Given the description of an element on the screen output the (x, y) to click on. 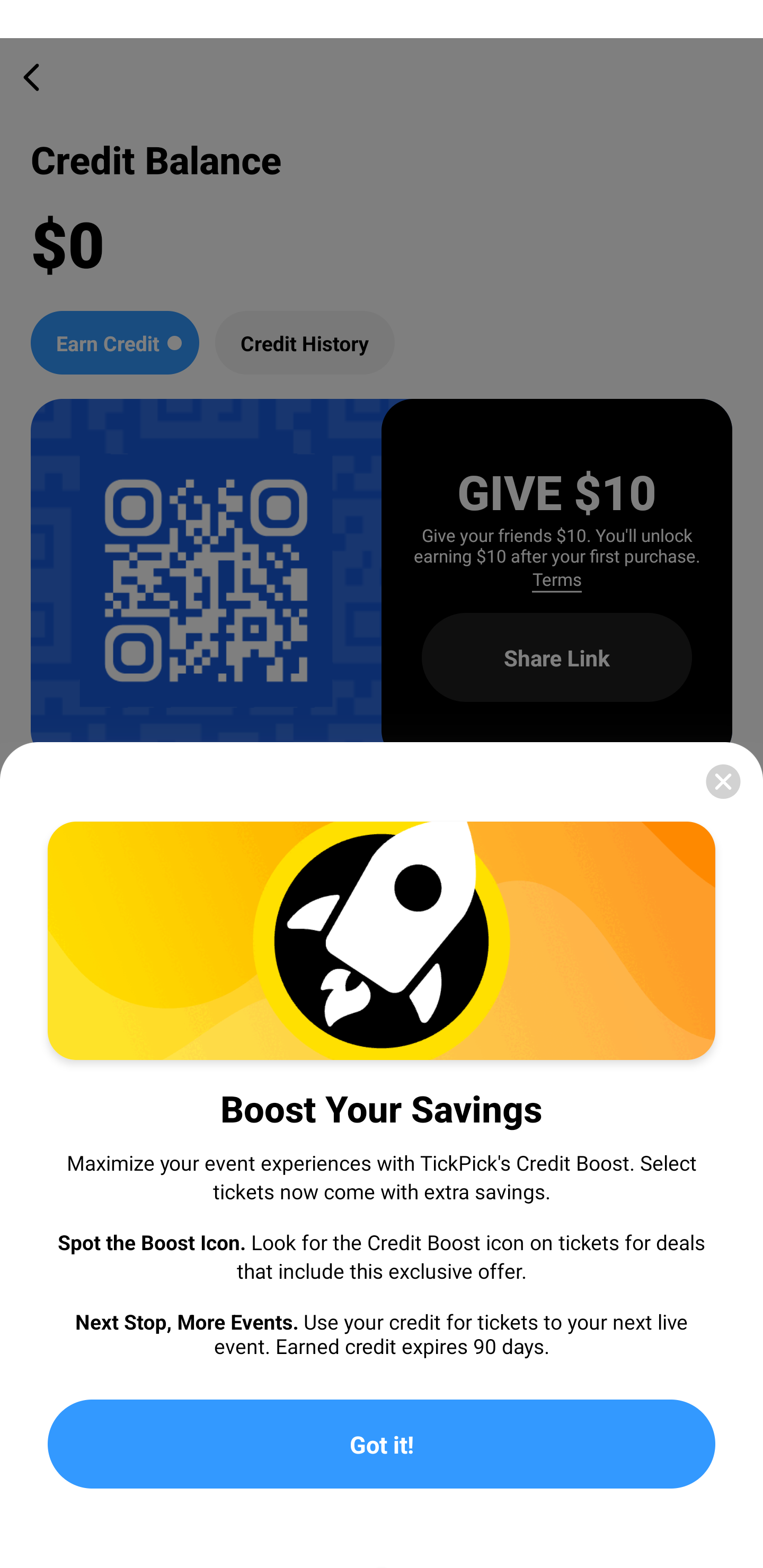
Got it! (381, 1444)
